Given the description of an element on the screen output the (x, y) to click on. 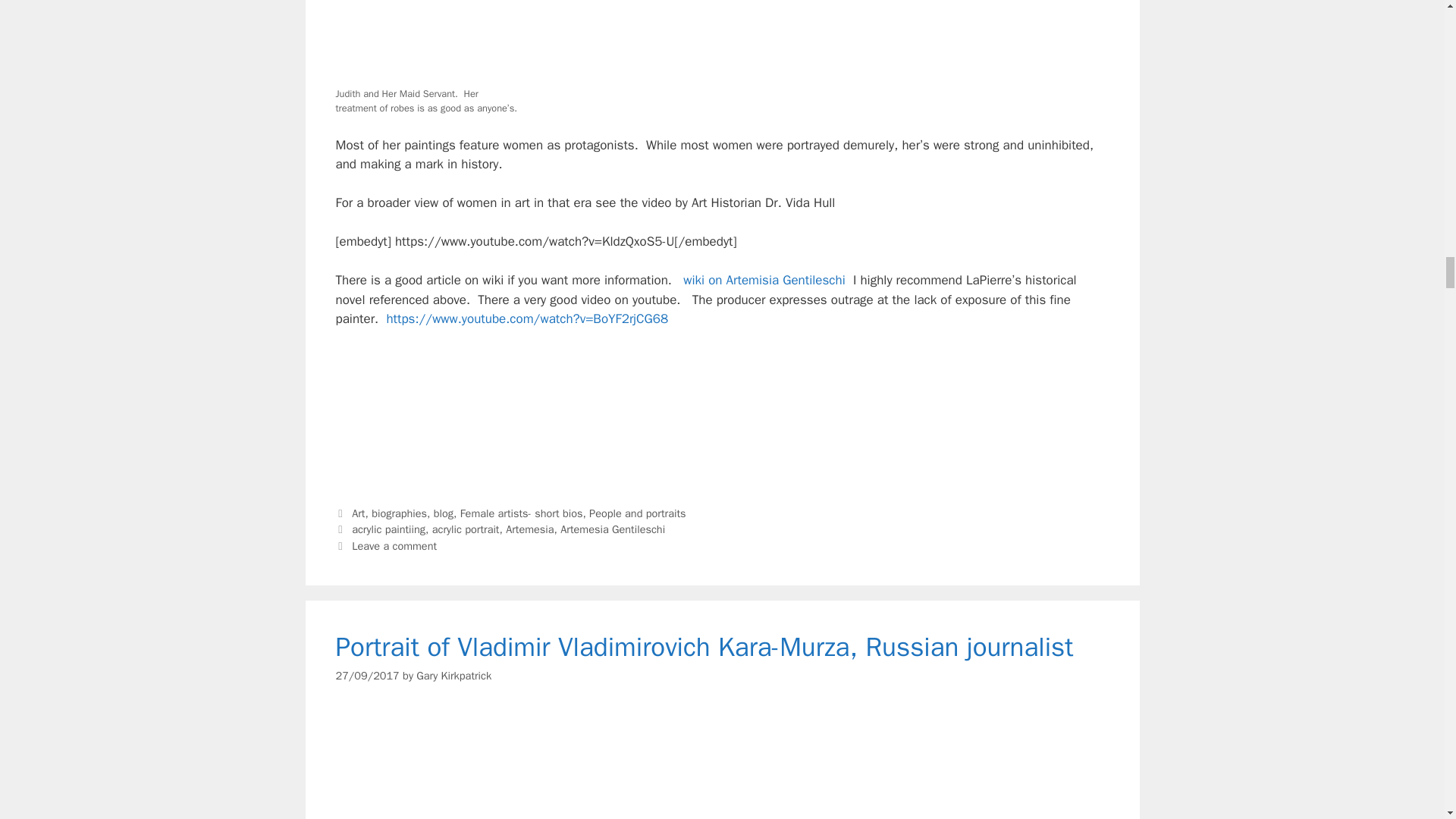
View all posts by Gary Kirkpatrick (454, 675)
